Given the description of an element on the screen output the (x, y) to click on. 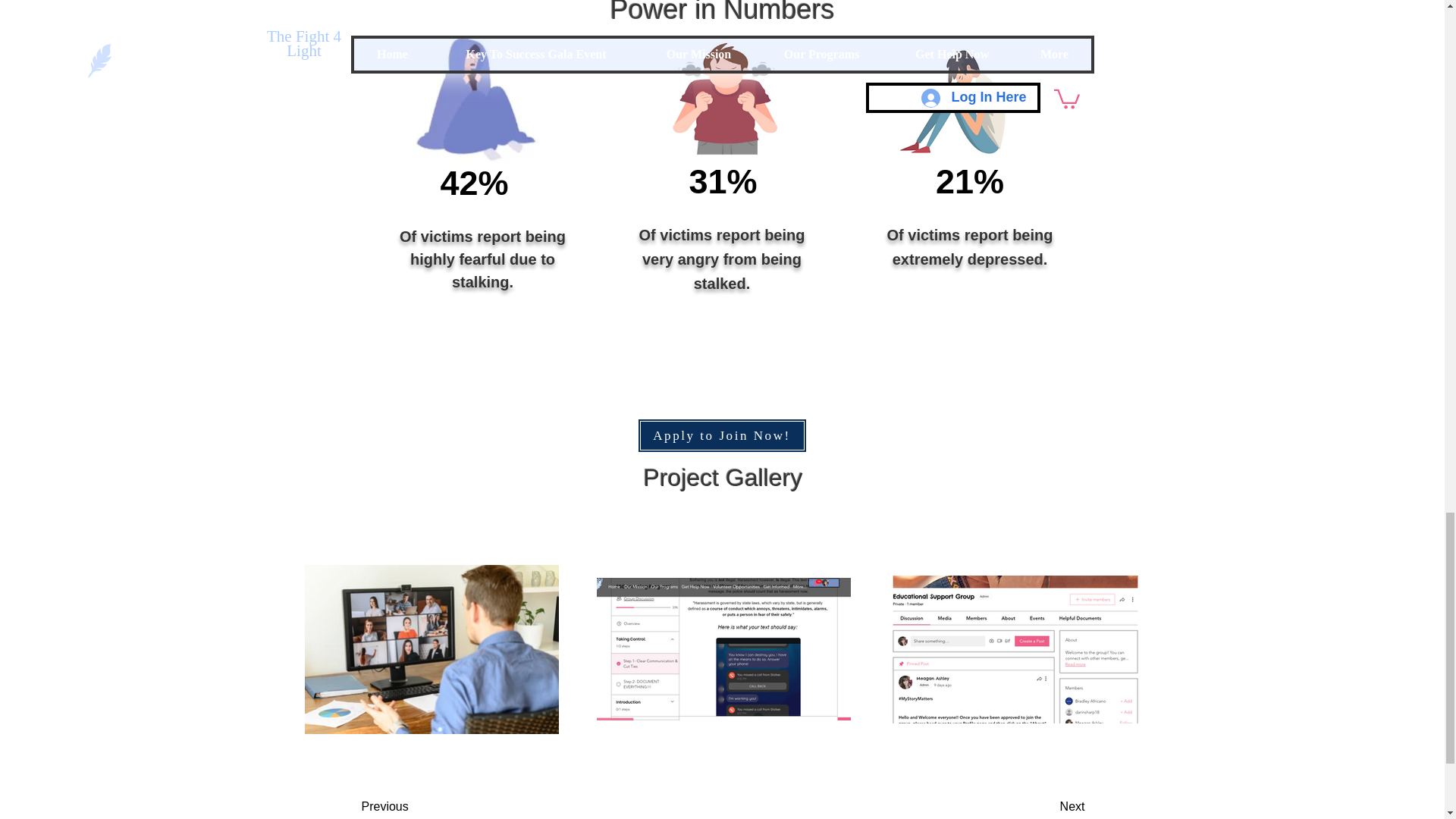
depressed.png (956, 99)
Previous (422, 805)
angry.png (723, 99)
Apply to Join Now! (721, 435)
Next (1033, 805)
